Given the description of an element on the screen output the (x, y) to click on. 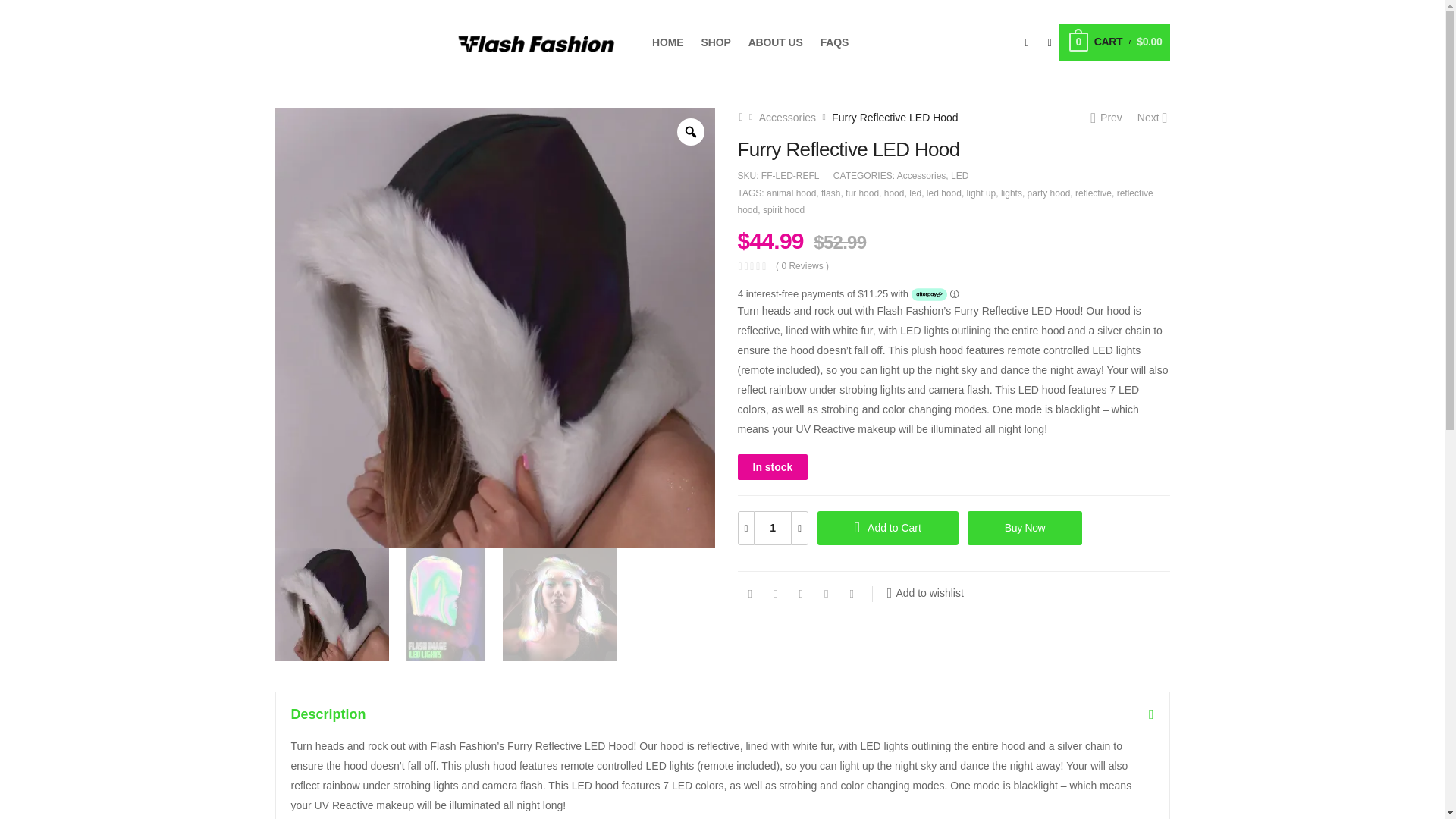
FurryReflectiveLEDHood-2 (445, 603)
Payment method messaging (952, 293)
Prev (1106, 117)
reflective (1093, 193)
Buy Now (1025, 528)
animal hood (791, 193)
FurryReflectiveLEDHood (331, 603)
Add to Cart (887, 528)
HOME (667, 42)
fur hood (862, 193)
flash (830, 193)
SHOP (715, 42)
led (914, 193)
ABOUT US (775, 42)
1 (772, 528)
